Given the description of an element on the screen output the (x, y) to click on. 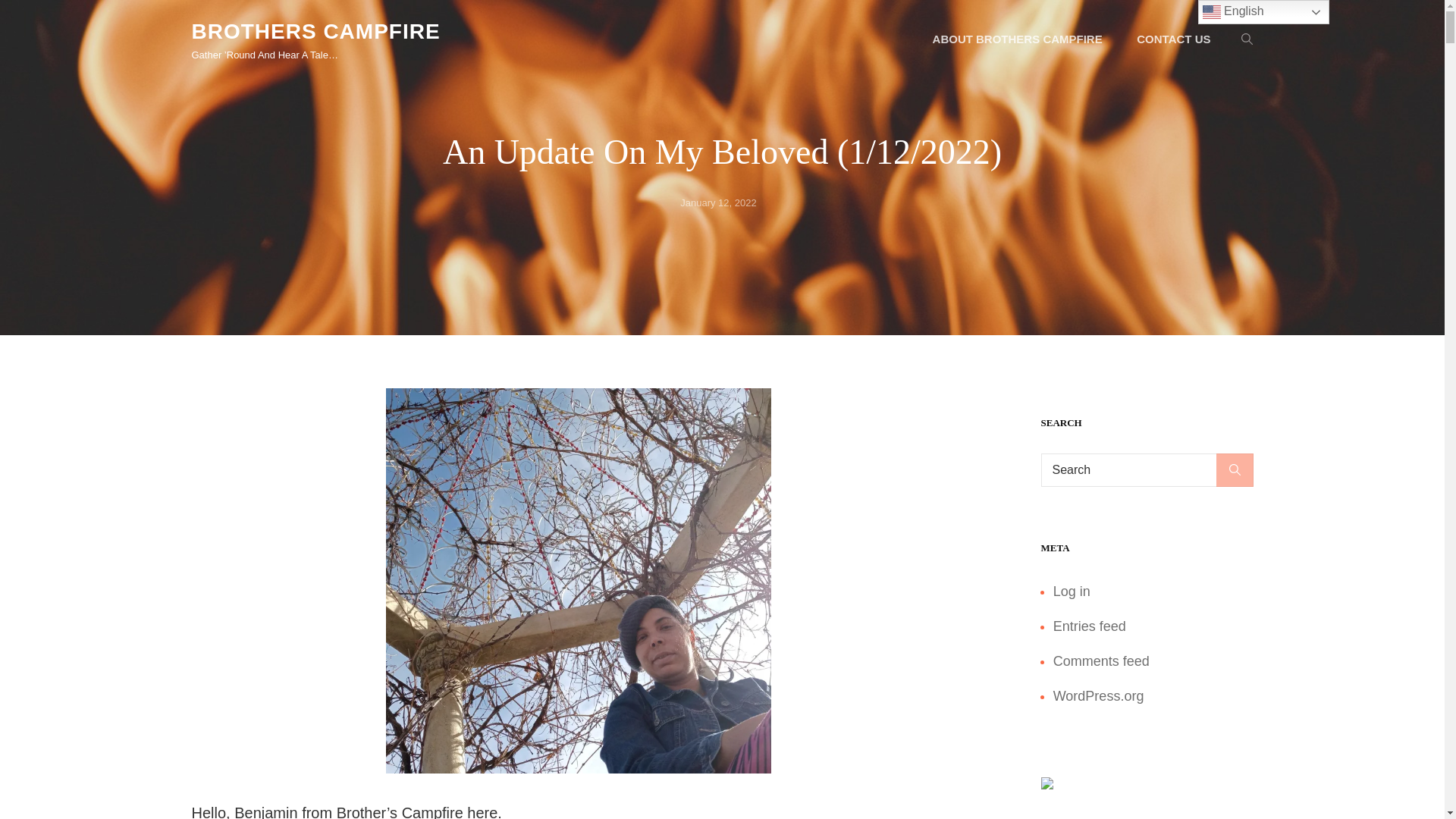
CONTACT US (1173, 39)
ABOUT BROTHERS CAMPFIRE (1017, 39)
January 12, 2022 (717, 202)
BROTHERS CAMPFIRE (314, 31)
